Given the description of an element on the screen output the (x, y) to click on. 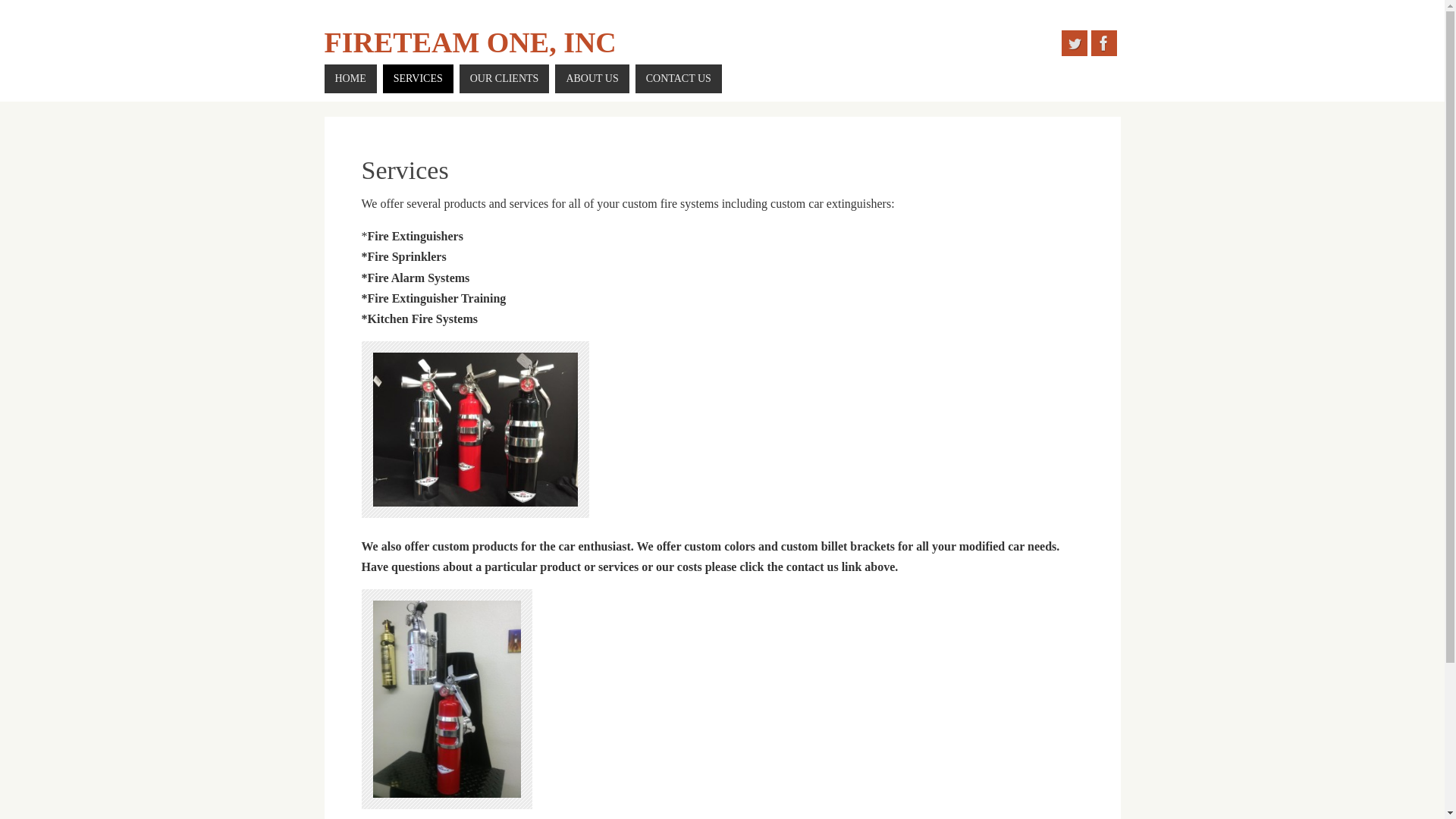
FIRETEAM ONE, INC (469, 42)
FireTeam One, inc (469, 42)
ABOUT US (591, 78)
SERVICES (417, 78)
CONTACT US (678, 78)
Twitter (1074, 43)
Facebook (1103, 43)
OUR CLIENTS (505, 78)
HOME (350, 78)
